Given the description of an element on the screen output the (x, y) to click on. 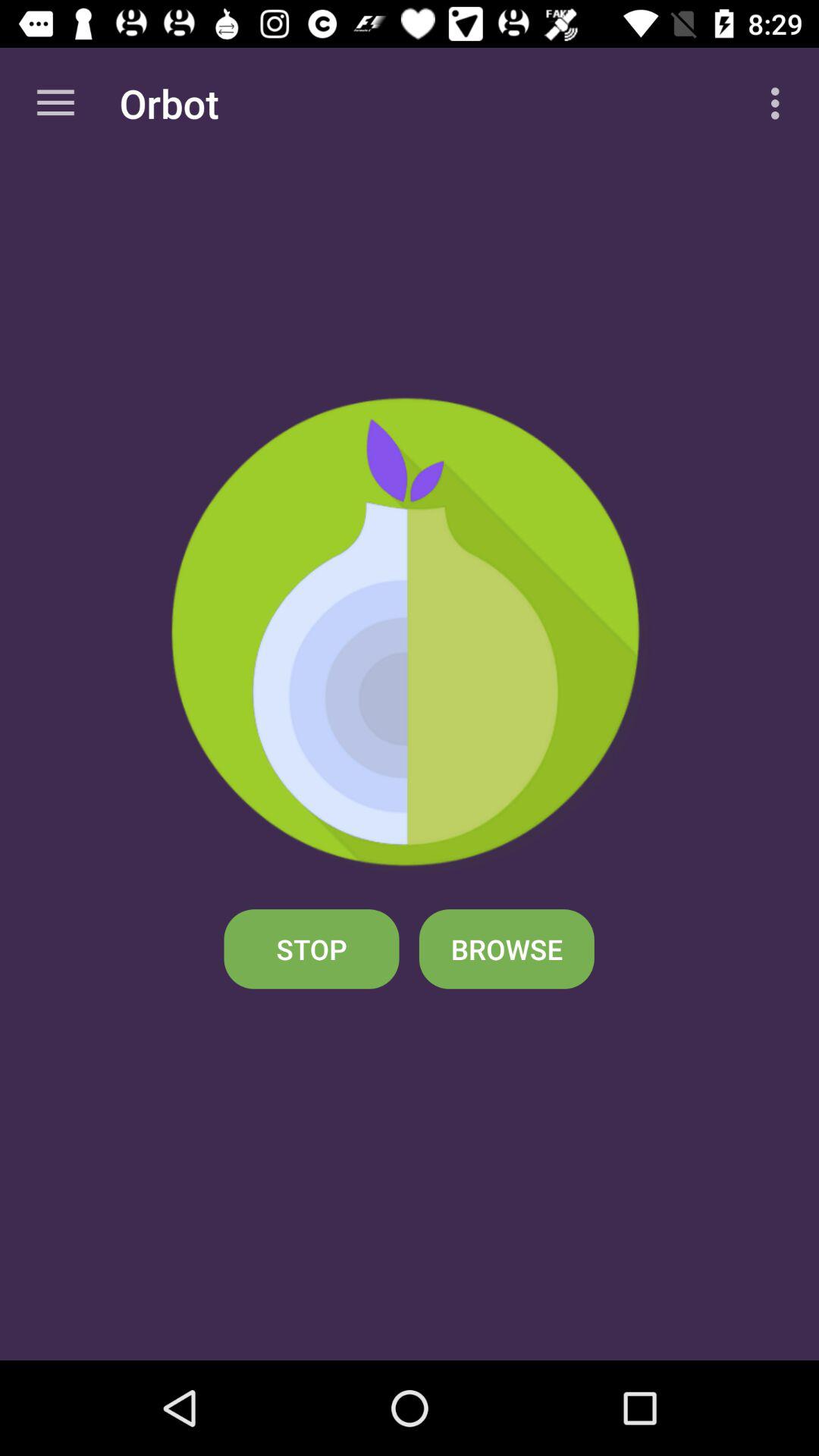
turn on the app to the left of the orbot app (55, 103)
